Given the description of an element on the screen output the (x, y) to click on. 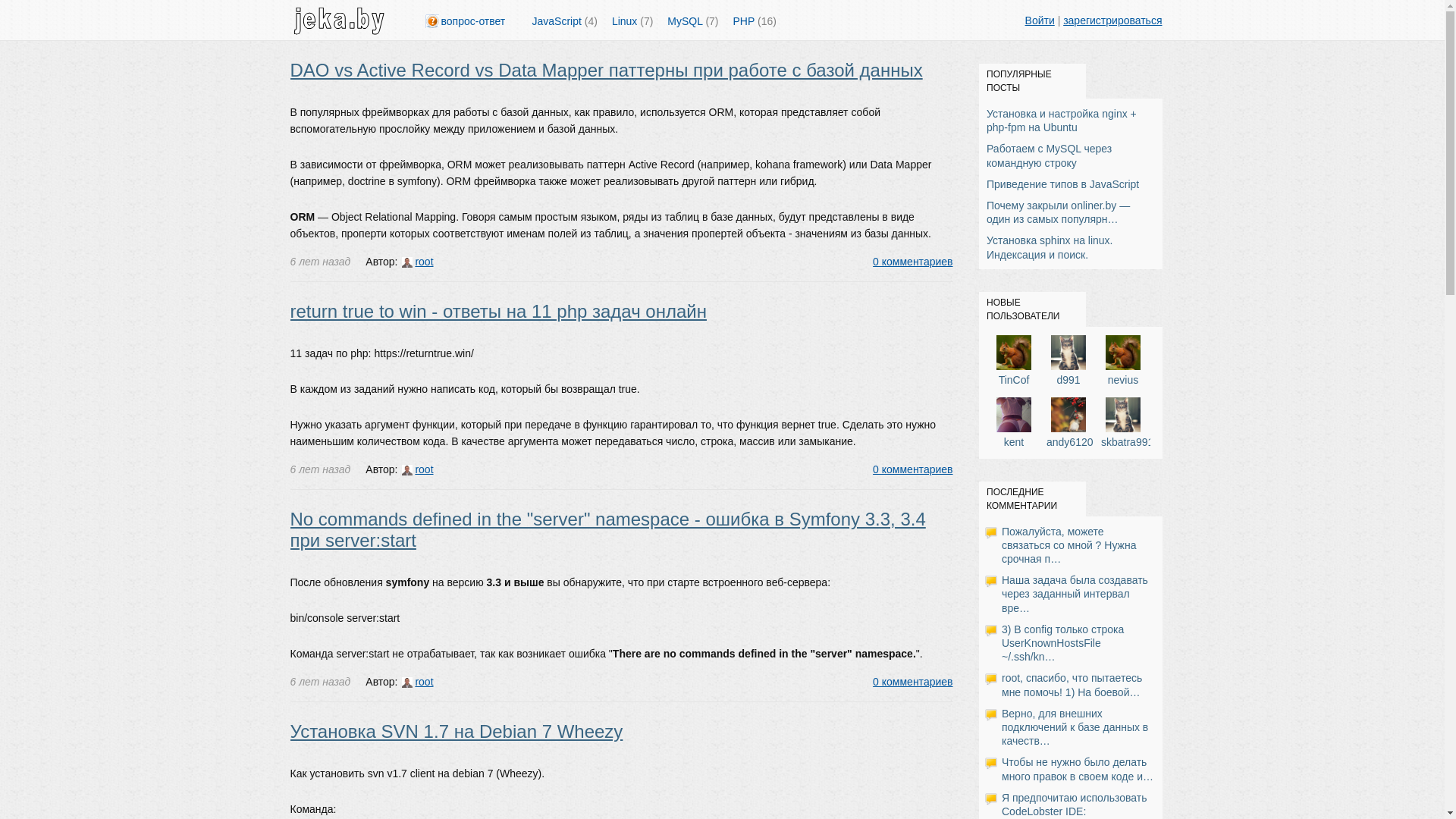
andy6120 Element type: text (1069, 435)
root Element type: text (417, 469)
JavaScript (4) Element type: text (564, 21)
kent Element type: text (1013, 435)
d991 Element type: text (1068, 372)
MySQL (7) Element type: text (692, 21)
root Element type: text (417, 261)
nevius Element type: text (1122, 372)
TinCof Element type: text (1013, 372)
Linux (7) Element type: text (631, 21)
PHP (16) Element type: text (754, 21)
root Element type: text (417, 681)
skbatra9911 Element type: text (1130, 435)
